Given the description of an element on the screen output the (x, y) to click on. 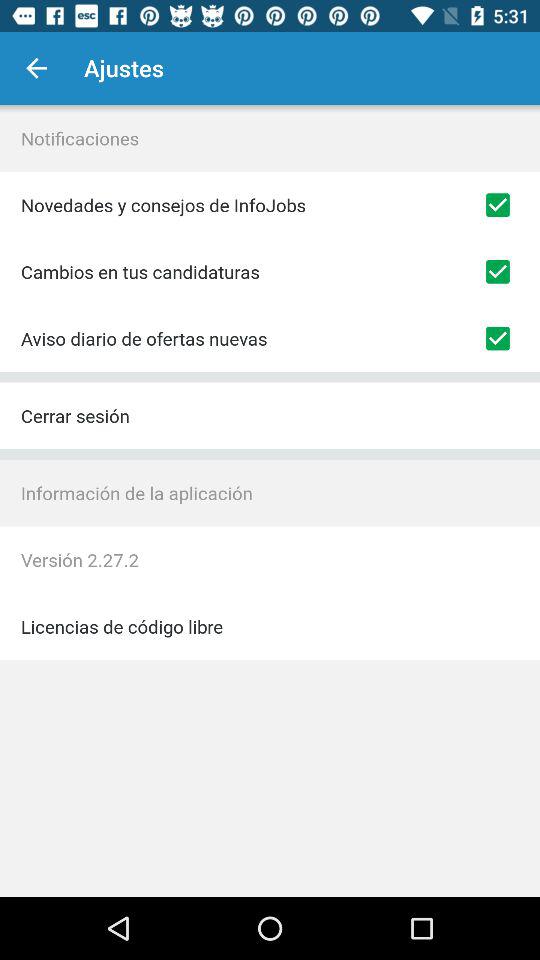
choose the item above the notificaciones icon (36, 68)
